Given the description of an element on the screen output the (x, y) to click on. 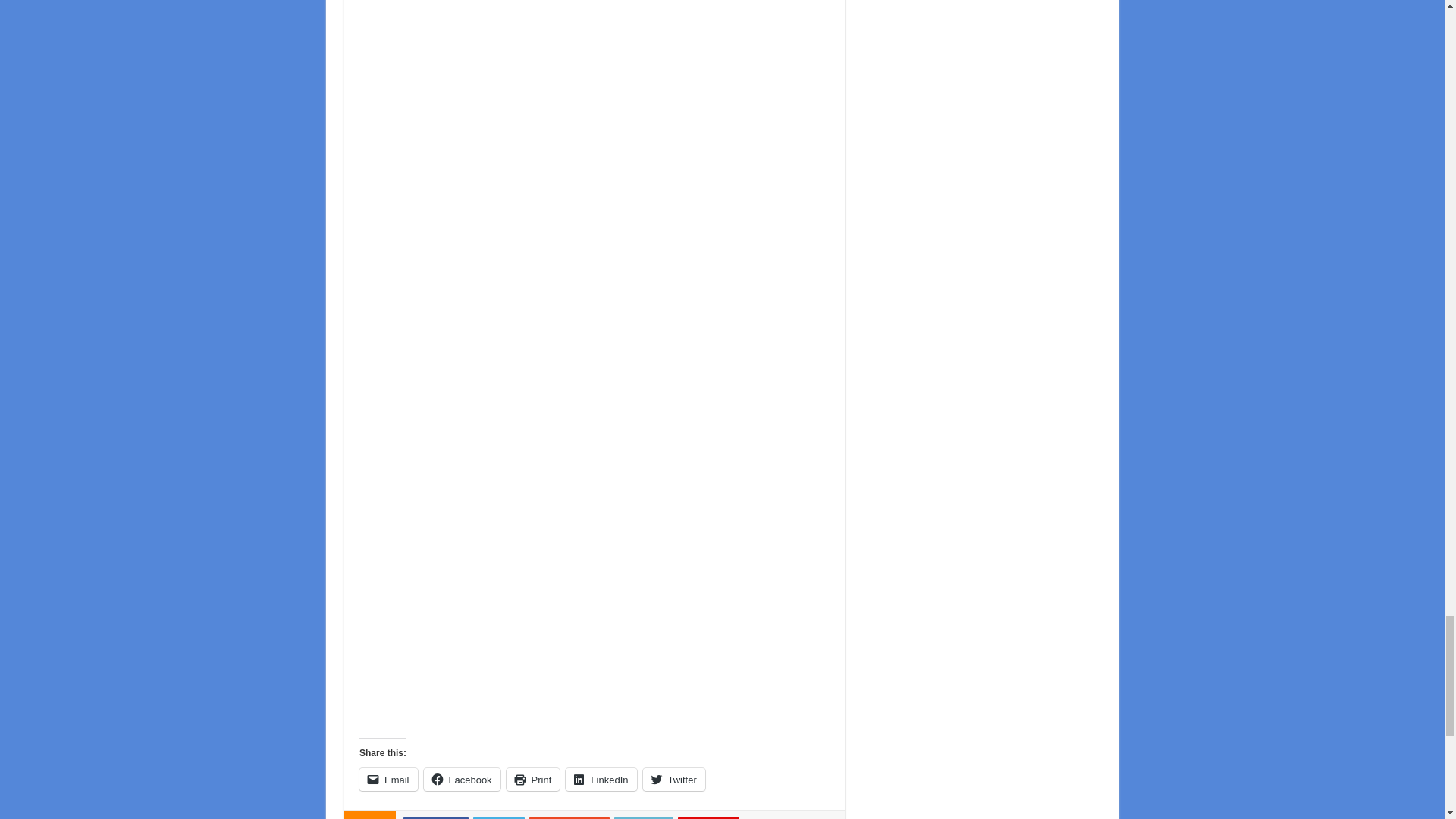
Facebook (435, 817)
Print (533, 779)
Email (388, 779)
Pinterest (708, 817)
Twitter (498, 817)
Click to share on Facebook (461, 779)
Facebook (461, 779)
Click to share on Twitter (673, 779)
Click to share on LinkedIn (601, 779)
Click to email a link to a friend (388, 779)
